Given the description of an element on the screen output the (x, y) to click on. 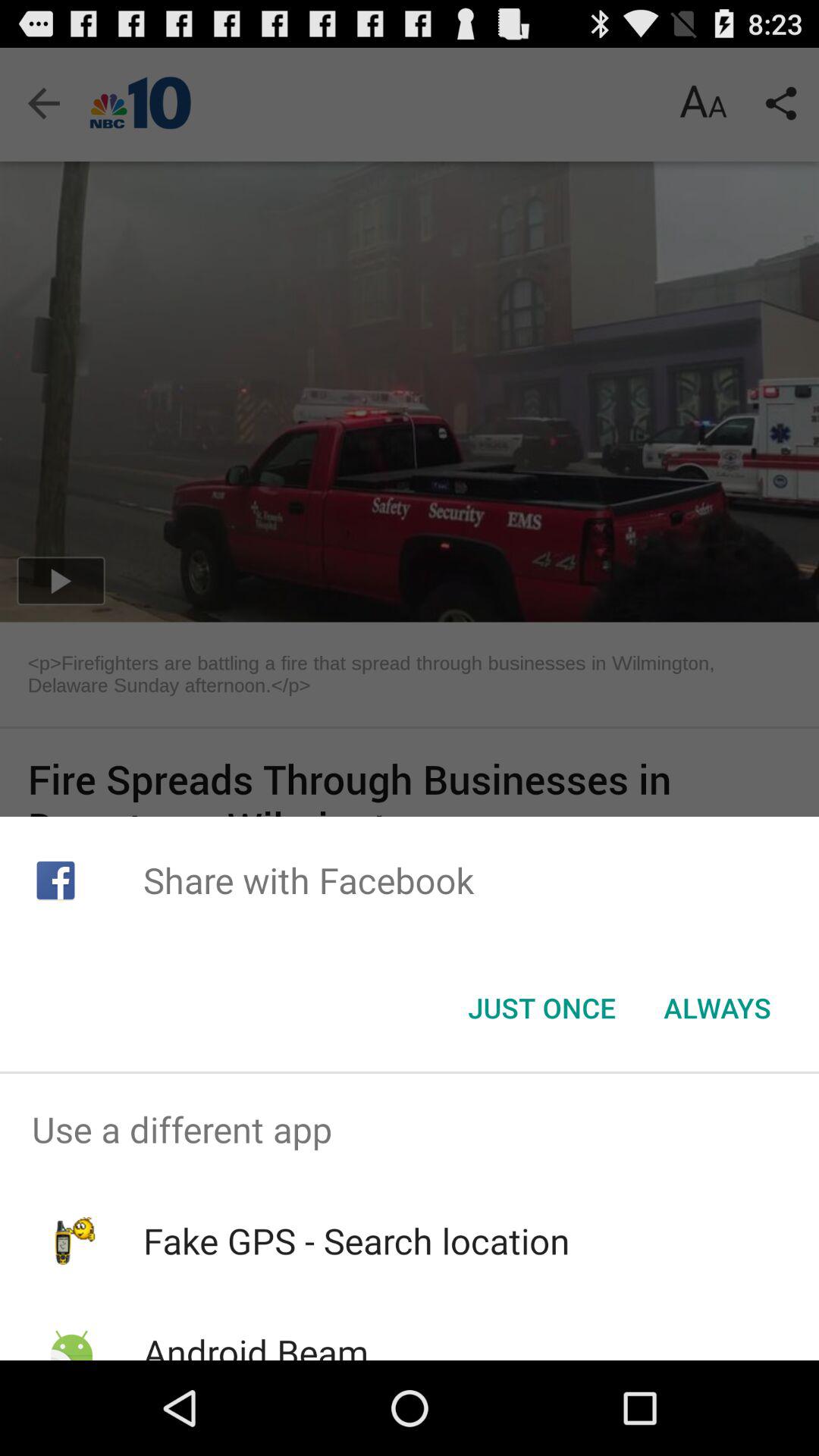
jump to always item (717, 1007)
